Given the description of an element on the screen output the (x, y) to click on. 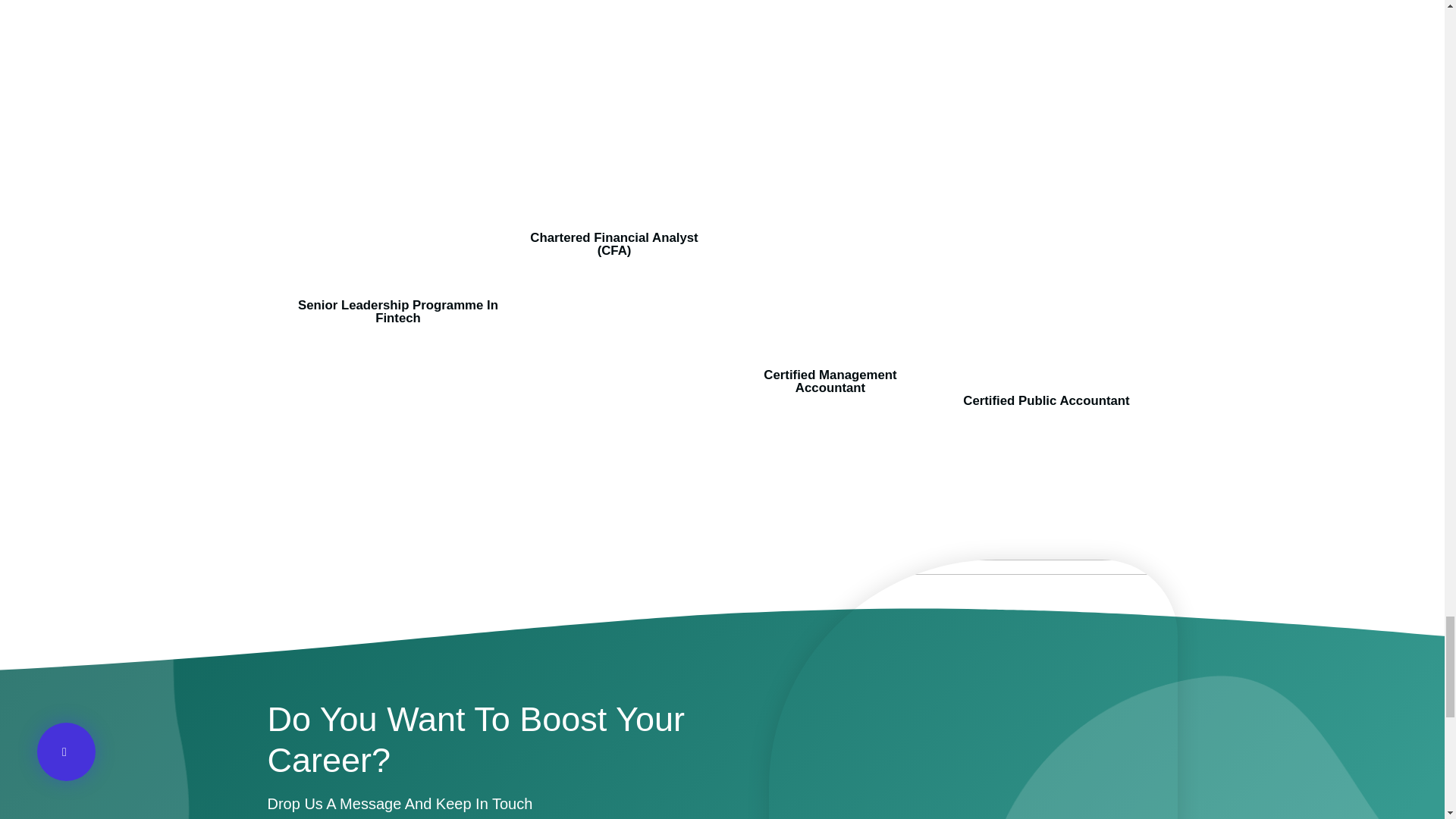
Senior Leadership Programme In Fintech (397, 311)
Certified Management Accountant (829, 380)
Certified Public Accountant (1045, 400)
